Given the description of an element on the screen output the (x, y) to click on. 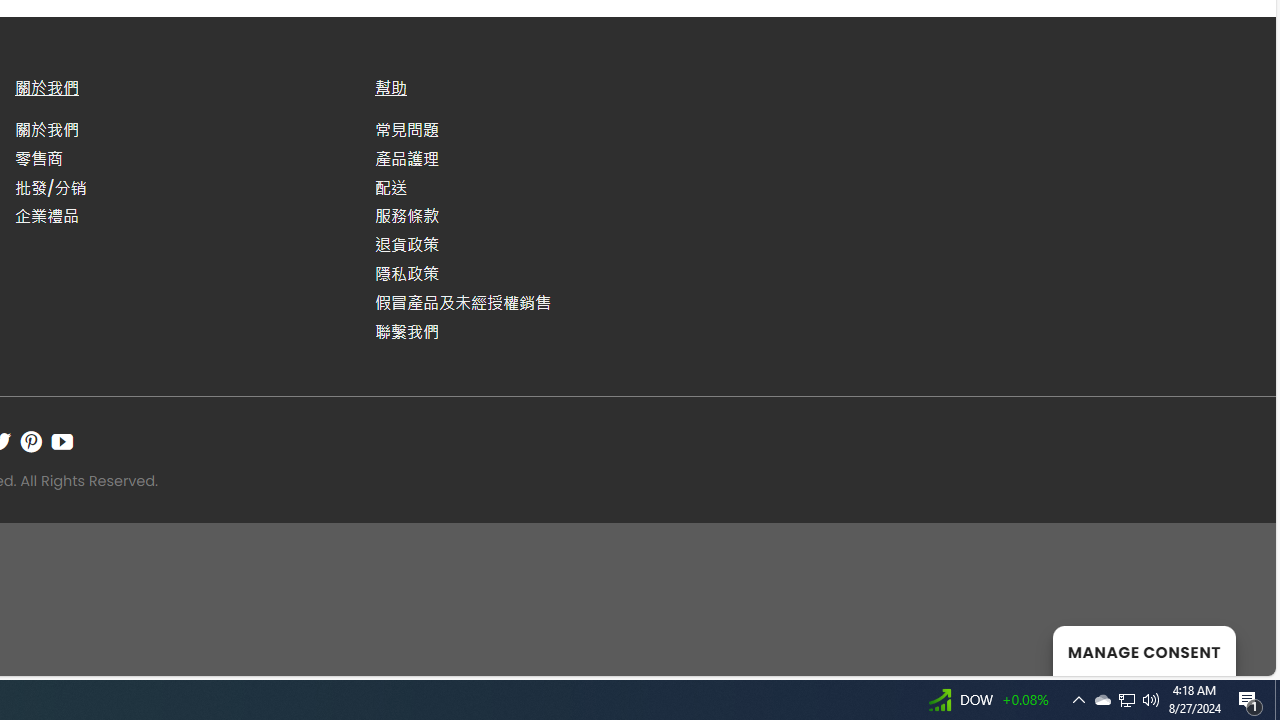
Go to top (1234, 647)
MANAGE CONSENT (1144, 650)
